Given the description of an element on the screen output the (x, y) to click on. 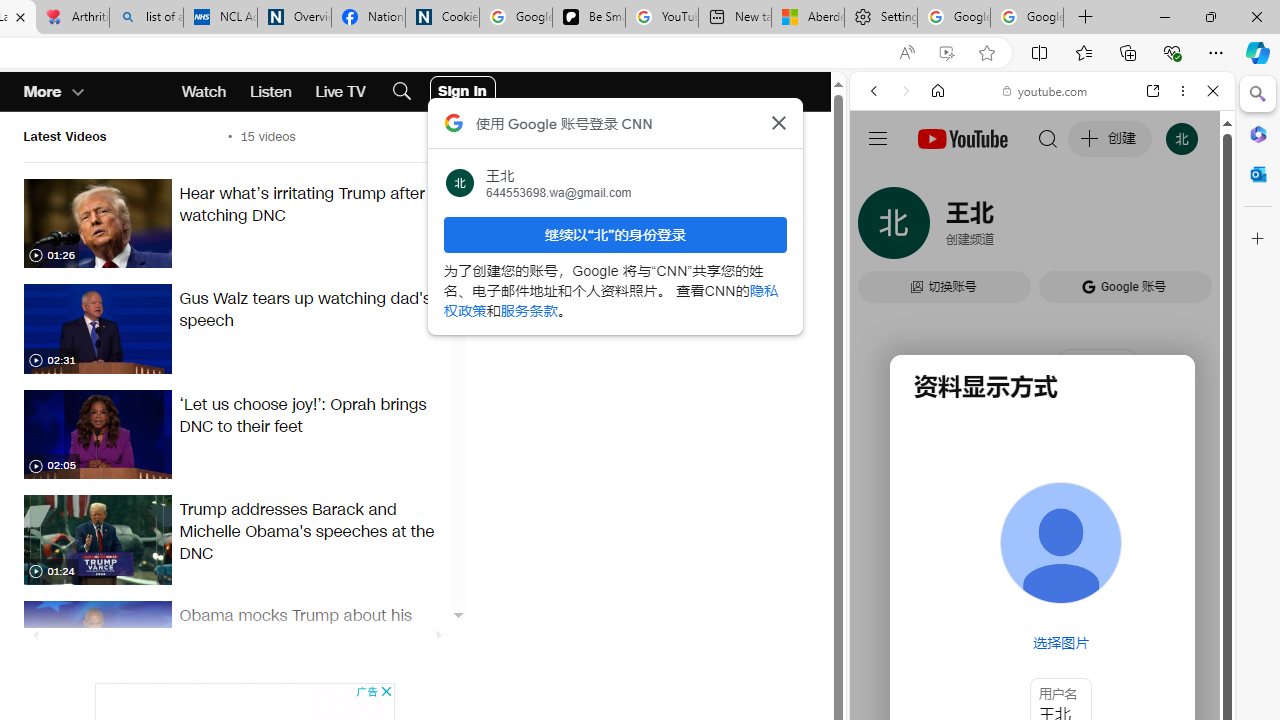
WEB   (882, 228)
Listen (270, 92)
Trailer #2 [HD] (1042, 592)
